Given the description of an element on the screen output the (x, y) to click on. 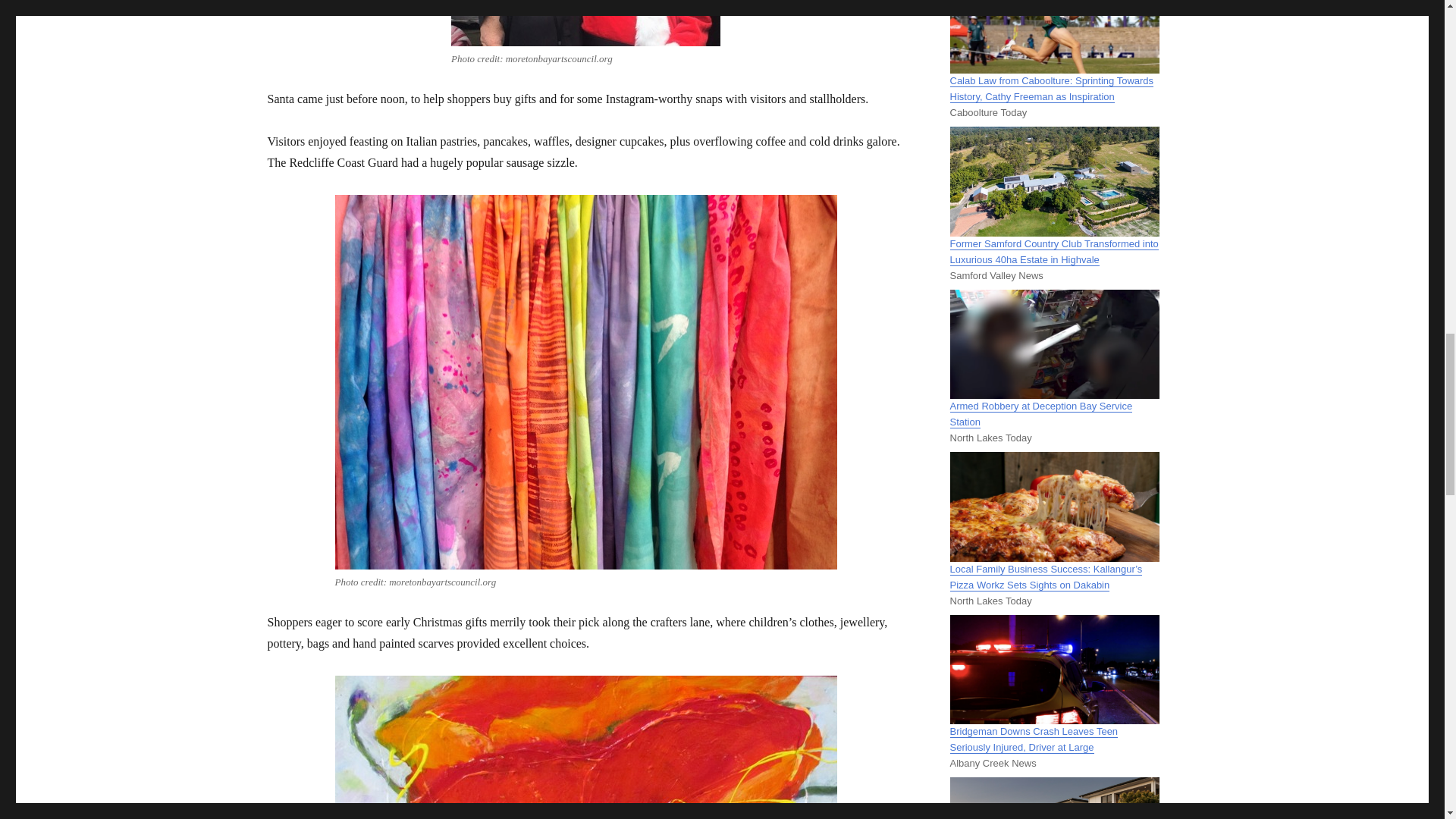
Armed Robbery at Deception Bay Service Station (1040, 413)
